Given the description of an element on the screen output the (x, y) to click on. 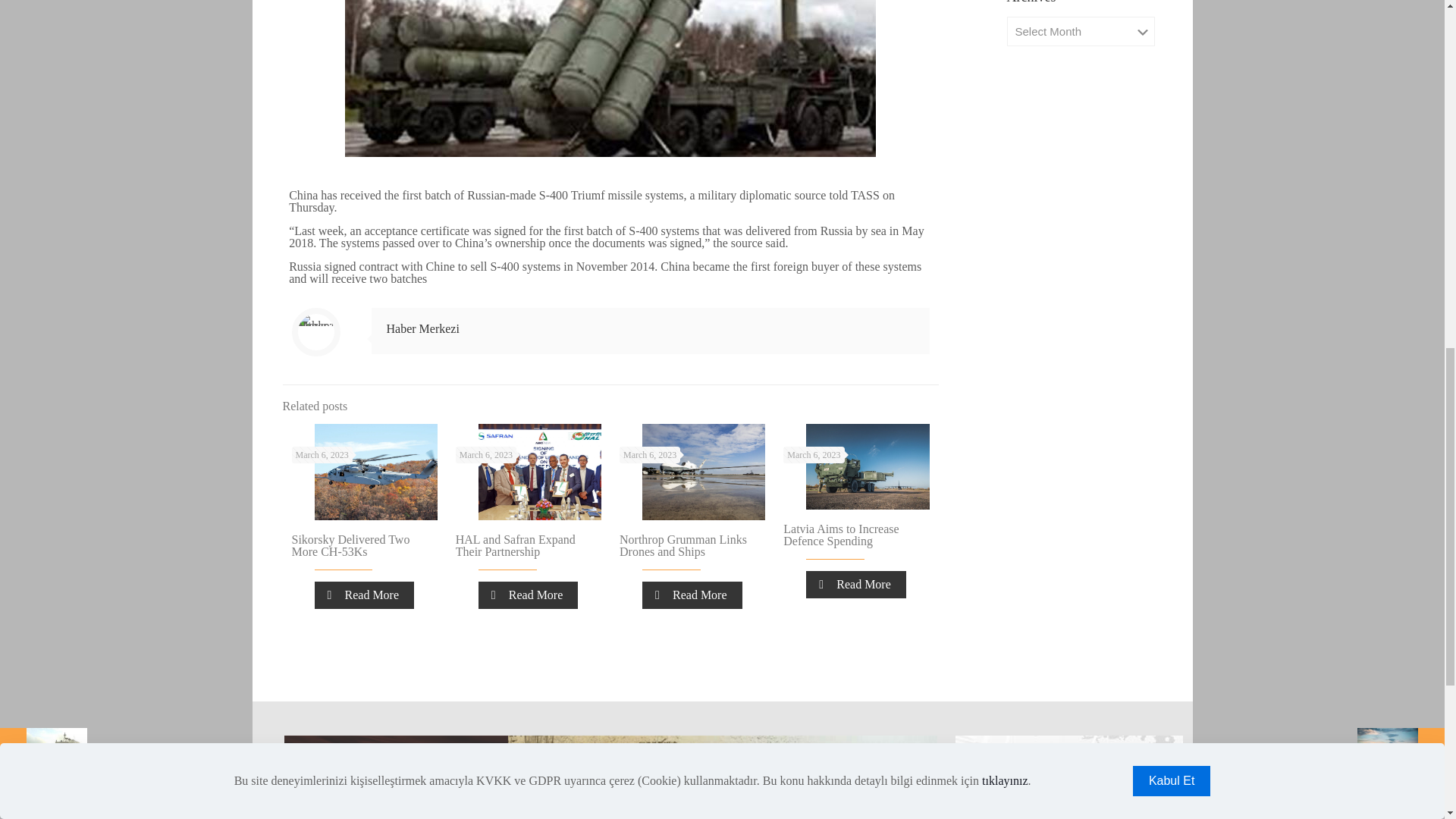
Sikorsky Delivered Two More CH-53Ks (350, 545)
HAL and Safran Expand Their Partnership (515, 545)
Haber Merkezi (423, 328)
Northrop Grumman Links Drones and Ships (683, 545)
Read More (528, 595)
Read More (692, 595)
Latvia Aims to Increase Defence Spending (840, 534)
Read More (363, 595)
